Given the description of an element on the screen output the (x, y) to click on. 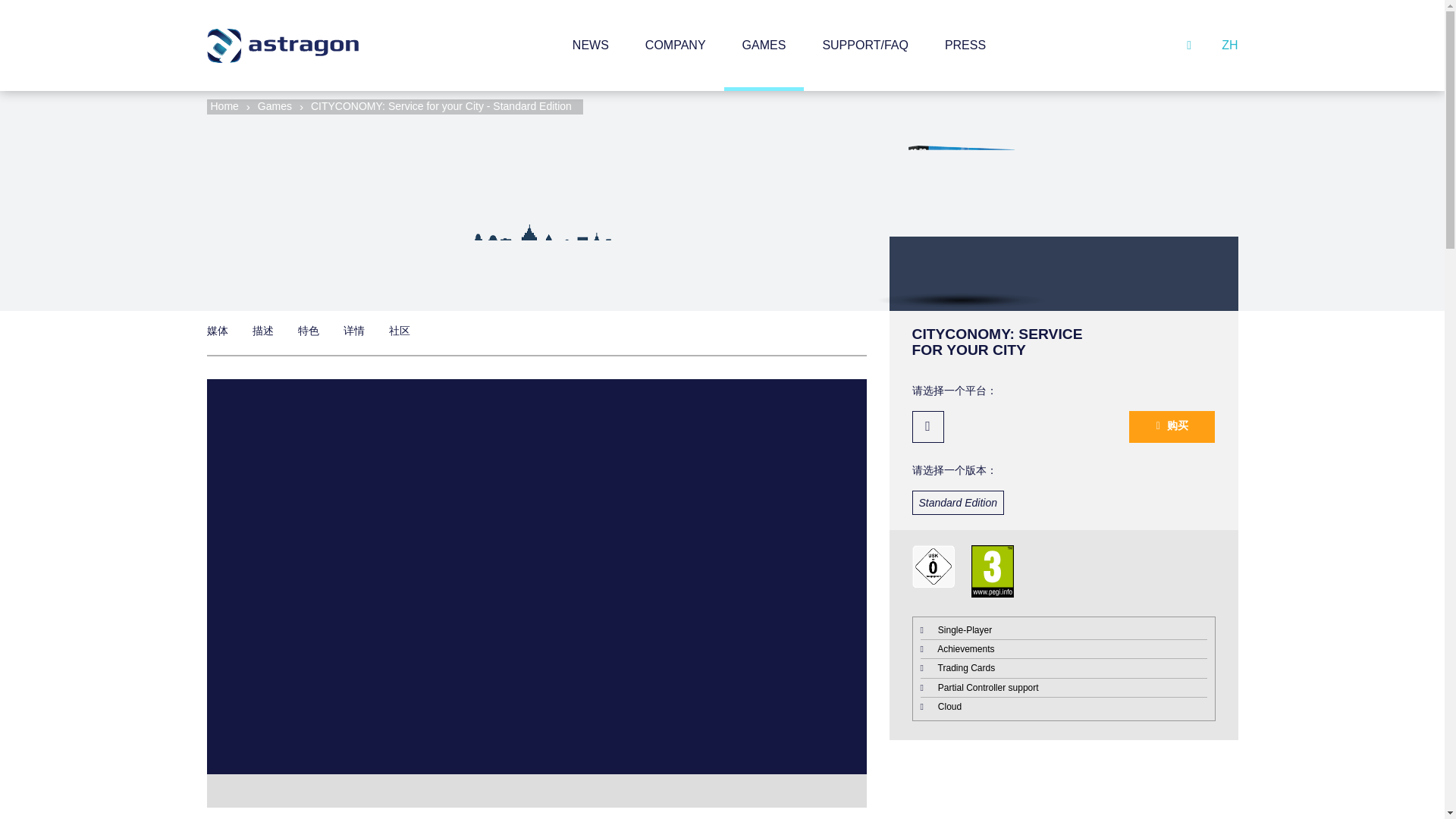
Link to page astragon (224, 105)
Link to page Games (274, 105)
COMPANY (675, 45)
Astragon (282, 45)
